Given the description of an element on the screen output the (x, y) to click on. 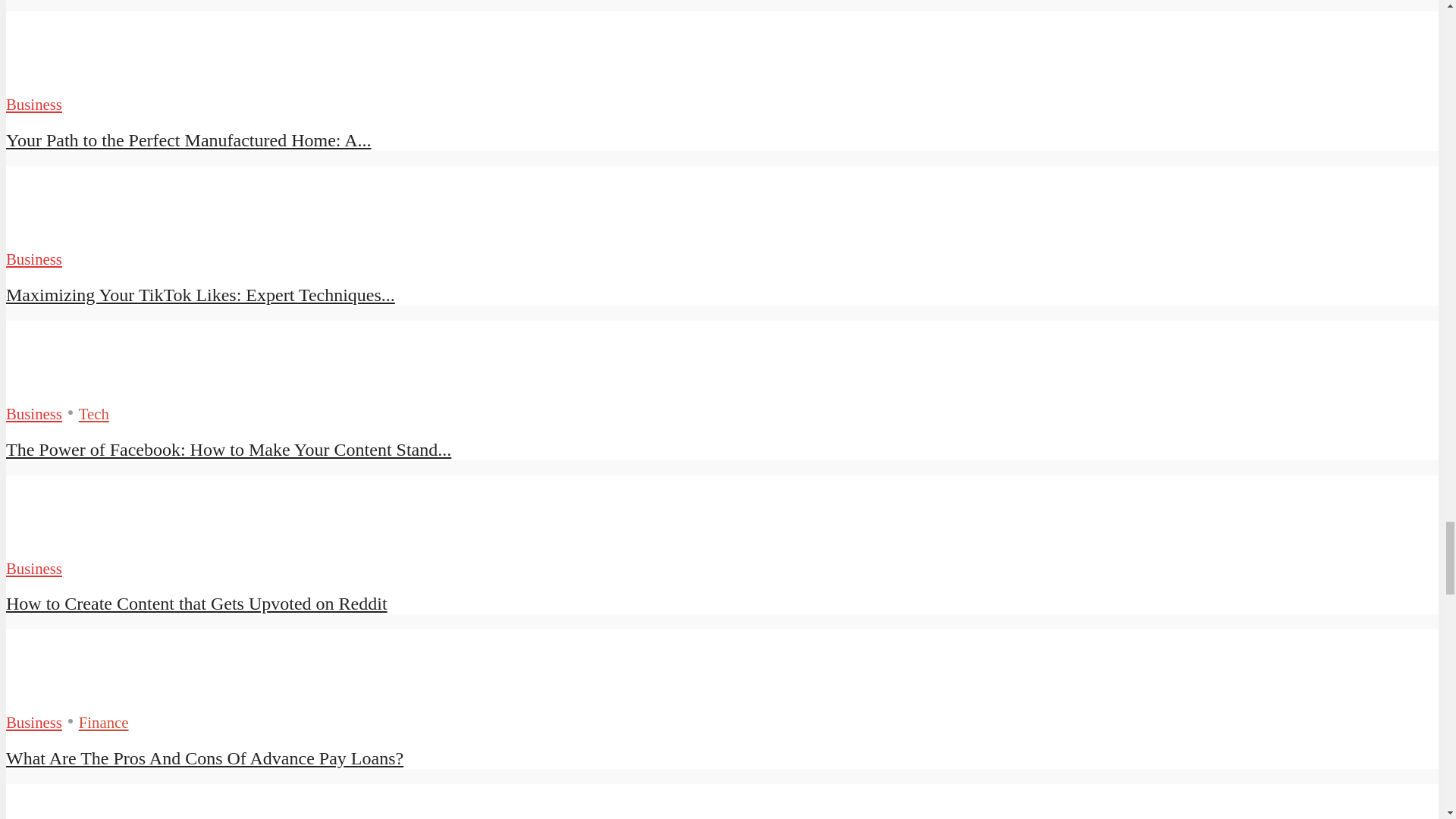
The Power of Facebook: How to Make Your Content Stand Out (60, 390)
Your Path to the Perfect Manufactured Home: A... (188, 139)
How to Create Content that Gets Upvoted on Reddit (60, 544)
What Are The Pros And Cons Of Advance Pay Loans? (60, 698)
Maximizing Your TikTok Likes: Expert Techniques Revealed (199, 294)
What Are The Pros And Cons Of Advance Pay Loans? (204, 758)
How to Create Content that Gets Upvoted on Reddit (196, 603)
Business (33, 104)
